Given the description of an element on the screen output the (x, y) to click on. 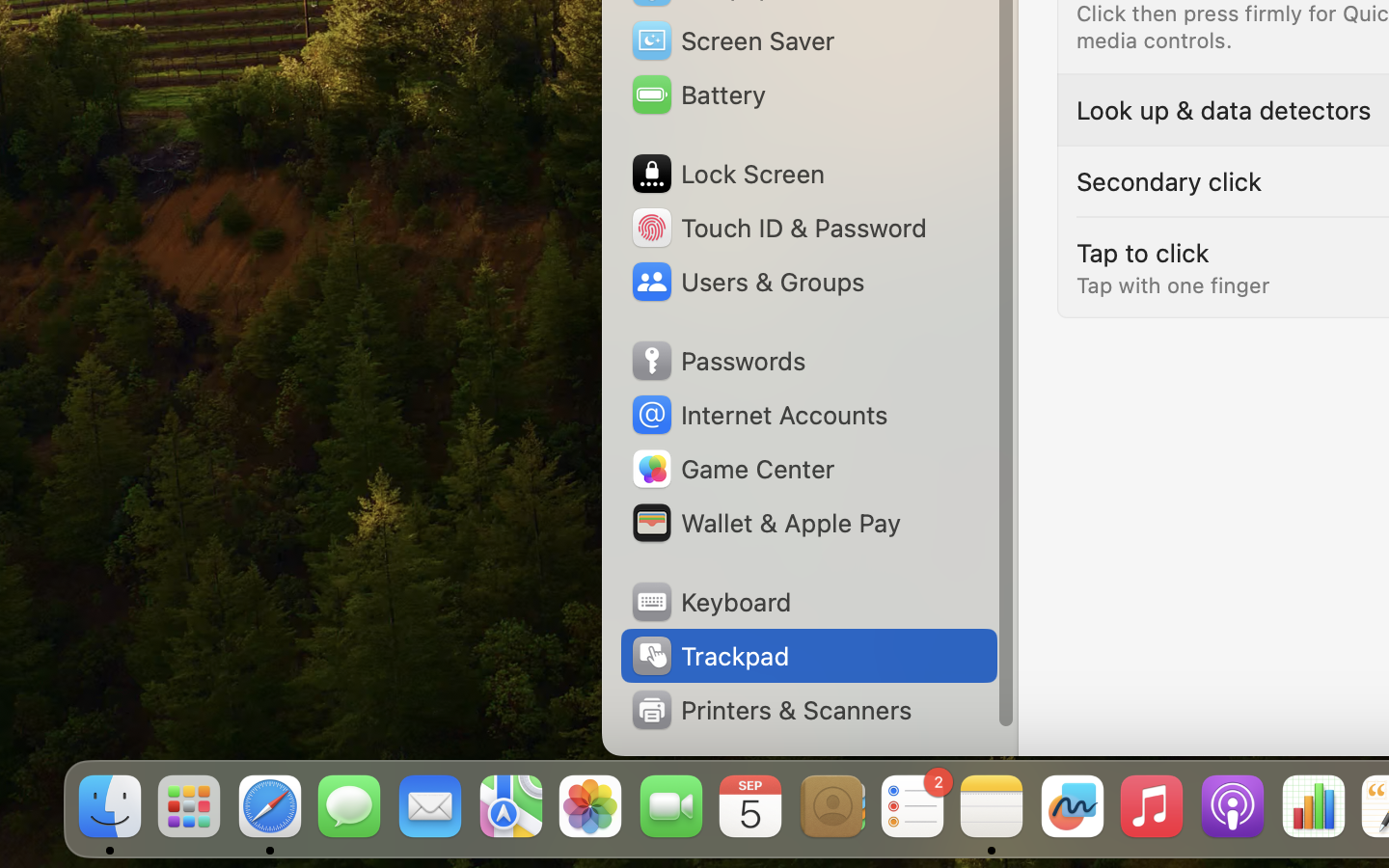
Trackpad Element type: AXStaticText (708, 655)
Passwords Element type: AXStaticText (717, 360)
Touch ID & Password Element type: AXStaticText (777, 227)
Tap with one finger Element type: AXStaticText (1172, 284)
Keyboard Element type: AXStaticText (709, 601)
